Given the description of an element on the screen output the (x, y) to click on. 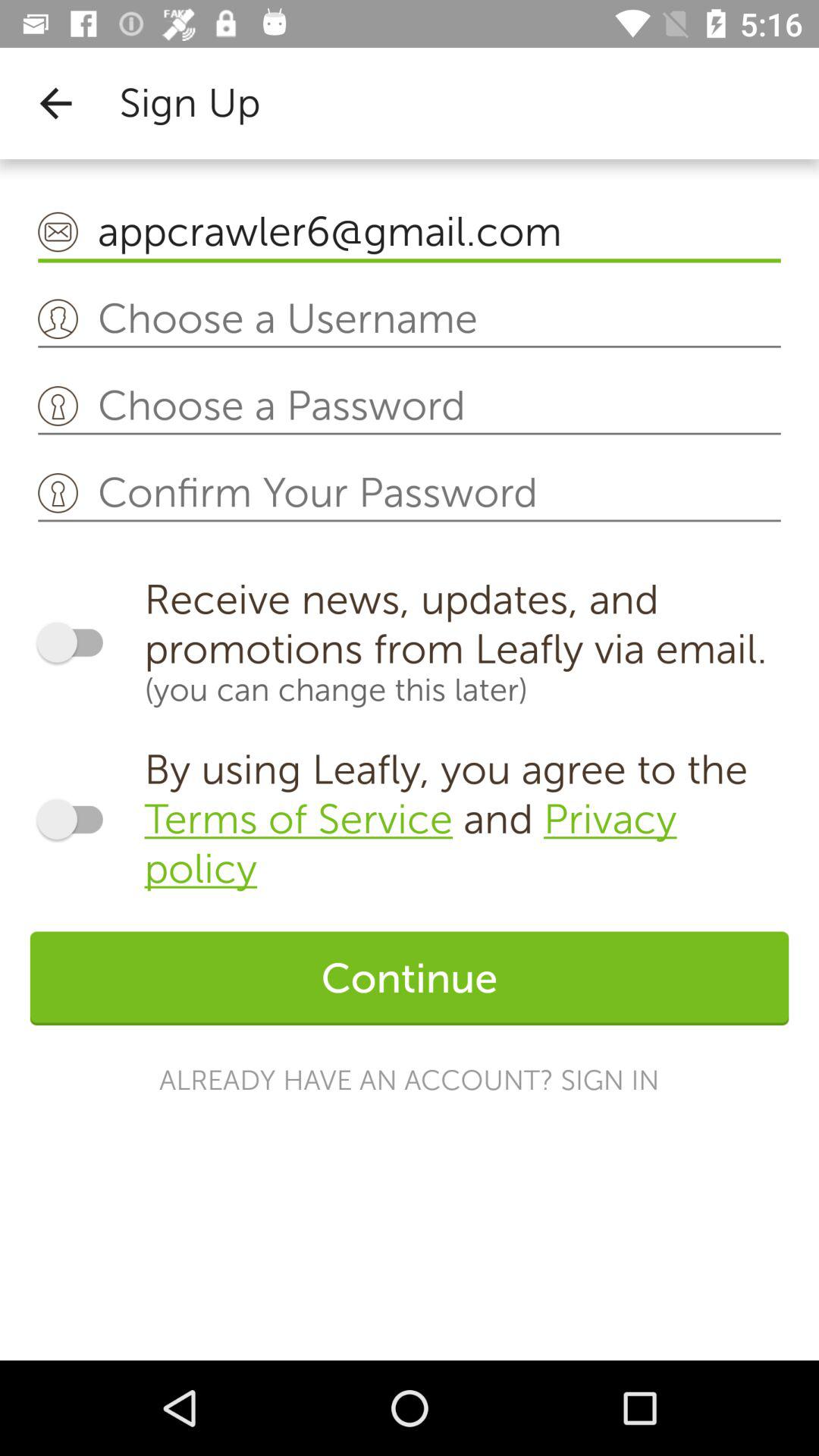
scroll to the continue item (409, 978)
